Given the description of an element on the screen output the (x, y) to click on. 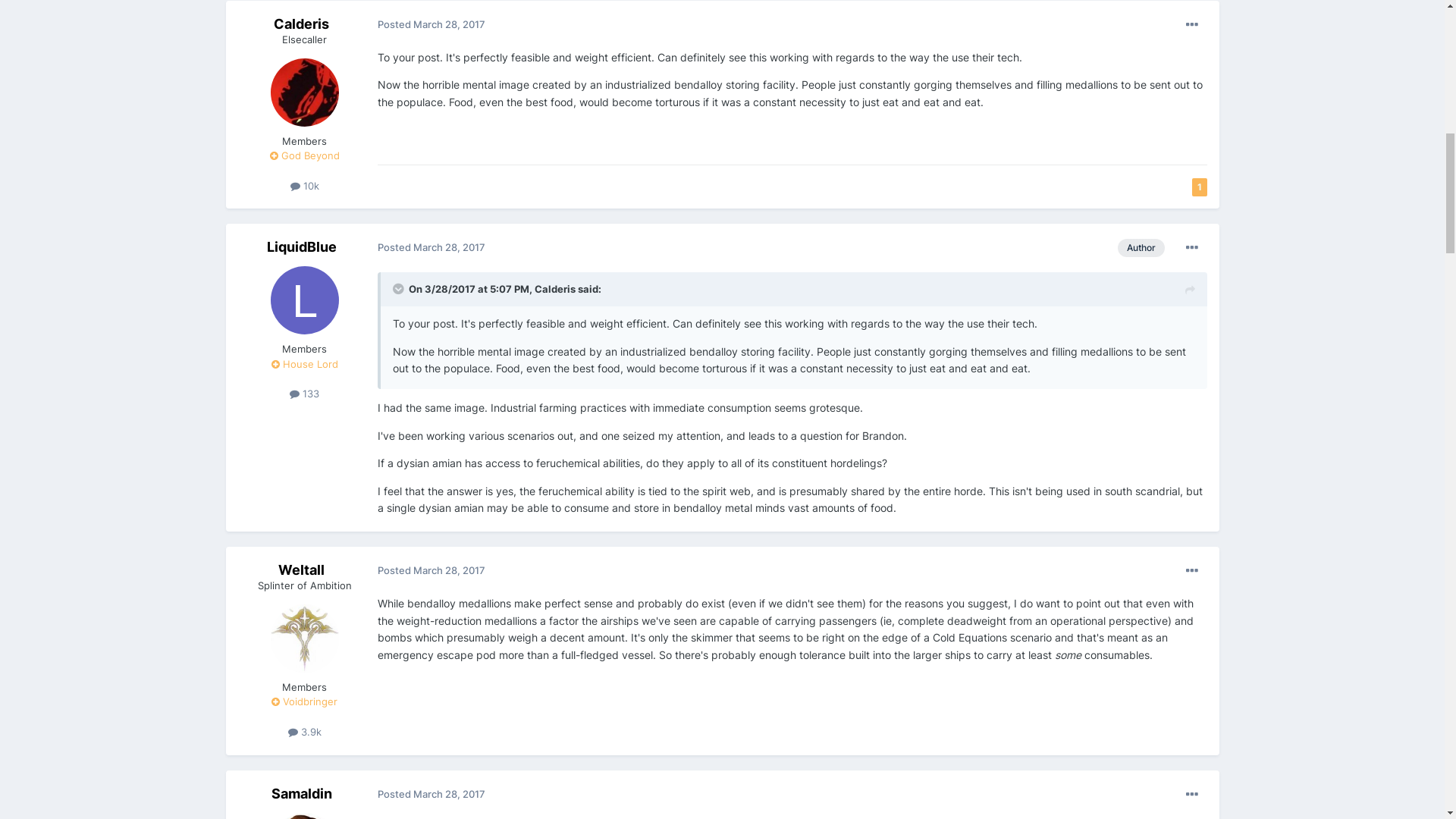
bendalloy Element type: text (269, 358)
Arcanum Element type: text (716, 234)
Cosmere Discussion Element type: text (456, 277)
The Cosmere Element type: text (359, 277)
More options... Element type: hover (1191, 541)
News Element type: text (256, 234)
Cosmere Discussion Element type: text (423, 413)
LiquidBlue Element type: text (324, 397)
feruchemy Element type: text (333, 358)
Posted March 28, 2017 Element type: text (431, 541)
LiquidBlue Element type: text (301, 540)
Forums Element type: text (328, 234)
Existing user? Sign In   Element type: text (1071, 106)
Home Element type: text (247, 277)
More Element type: text (795, 234)
Coppermind Element type: text (611, 234)
Go to LiquidBlue's profile Element type: hover (257, 406)
 Share Element type: text (1059, 406)
Sign Up Element type: text (1176, 105)
133 Element type: text (304, 687)
Start new topic Element type: text (1165, 469)
Gallery Element type: text (512, 234)
Followers
2 Element type: text (1151, 406)
Go to LiquidBlue's profile Element type: hover (303, 594)
All Activity Element type: text (1182, 277)
My Activity Streams Element type: hover (931, 234)
Shardcast Element type: text (420, 234)
Forums Element type: text (294, 277)
south scadrial Element type: text (407, 358)
